Given the description of an element on the screen output the (x, y) to click on. 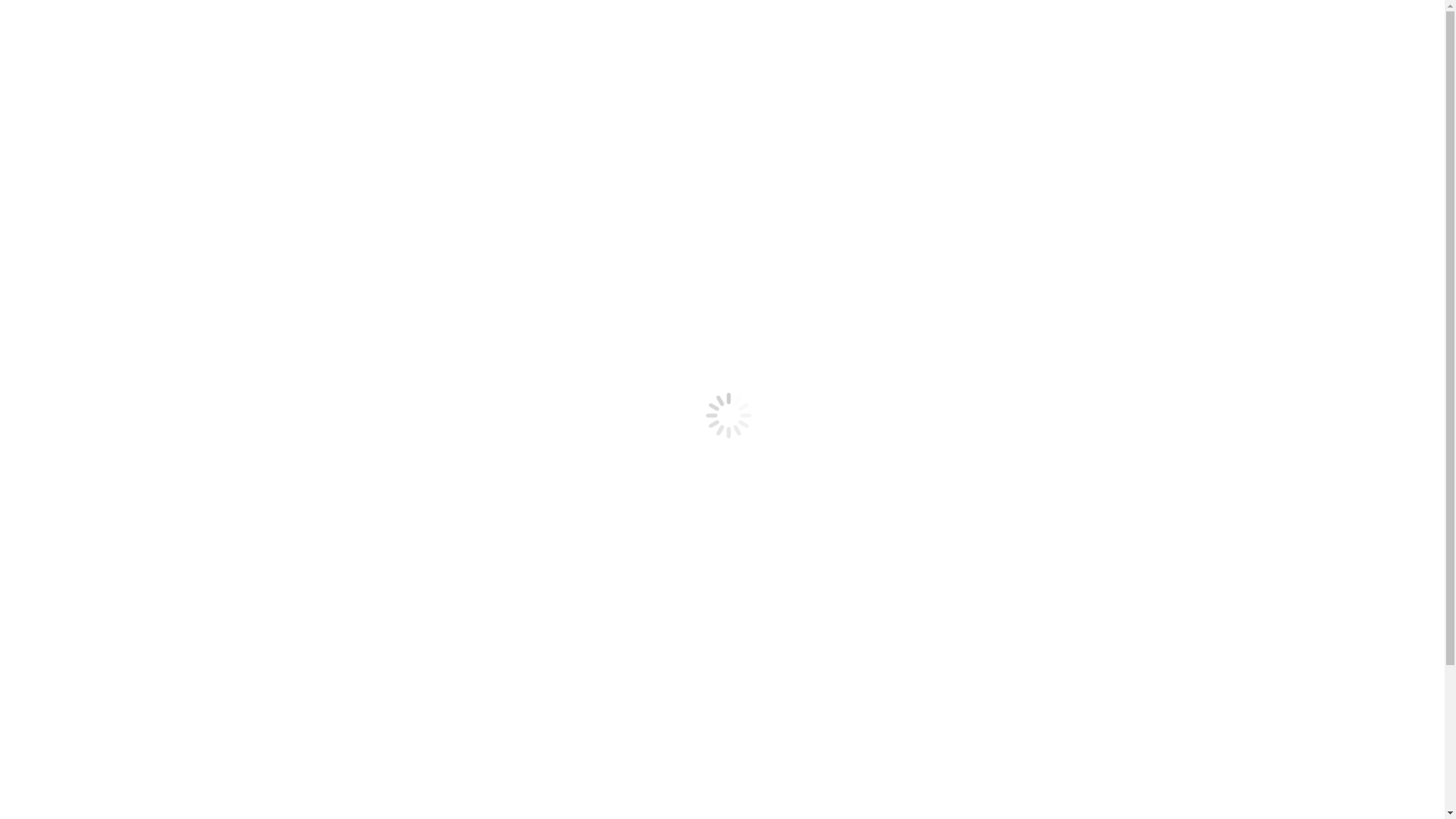
INFO Element type: text (80, 492)
LEDEN Element type: text (55, 451)
DE ANJELIER Element type: text (73, 180)
tel: +32 3 458 09 47 Element type: text (54, 12)
Search form Element type: hover (73, 27)
CONTACT Element type: text (94, 438)
INFO Element type: text (80, 289)
SPONSORS Element type: text (66, 465)
KAMPEN Element type: text (92, 344)
INTERCLUB Element type: text (100, 303)
CONTACT Element type: text (94, 235)
TENNIS Element type: text (57, 275)
EVENTS Element type: text (89, 221)
KAMPEN Element type: text (92, 547)
PETANQUE Element type: text (67, 561)
RESERVEER EEN TERREIN Element type: text (157, 57)
Spring naar content Element type: text (5, 5)
Go! Element type: text (20, 43)
SPONSORS Element type: text (66, 262)
TORNOOIEN Element type: text (101, 520)
NIEUWS Element type: text (89, 410)
ONZE CLUB Element type: text (100, 194)
LESSEN Element type: text (88, 533)
LESSEN Element type: text (88, 330)
ONZE CLUB Element type: text (100, 397)
PETANQUE Element type: text (67, 357)
TENNIS Element type: text (57, 479)
EVENTS Element type: text (89, 424)
LEDEN Element type: text (55, 248)
LID WORDEN Element type: text (44, 57)
NIEUWS Element type: text (89, 207)
INTERCLUB Element type: text (100, 506)
DE ANJELIER Element type: text (73, 383)
TORNOOIEN Element type: text (101, 316)
Go! Element type: text (790, 653)
